Given the description of an element on the screen output the (x, y) to click on. 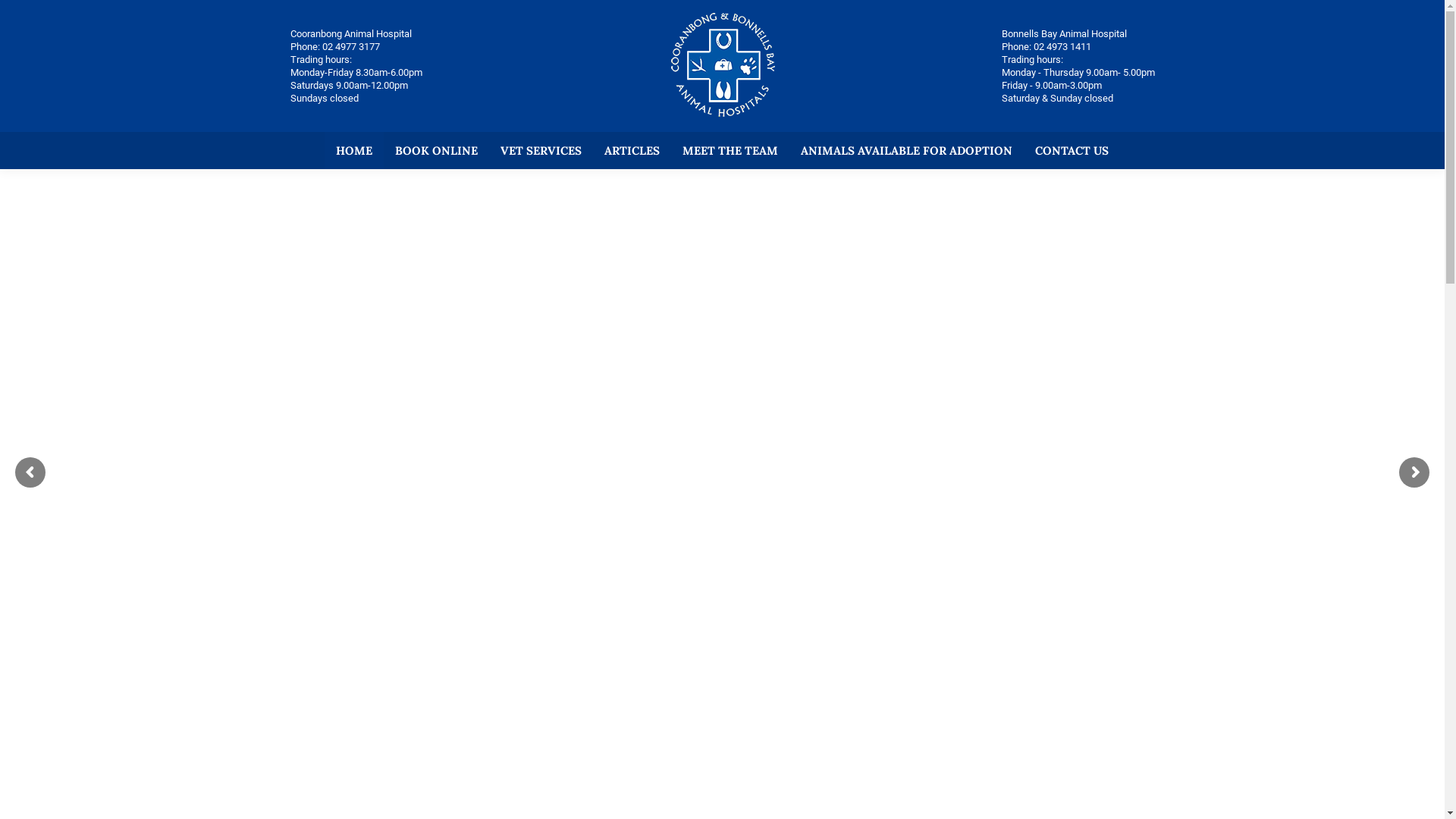
CONTACT US Element type: text (1071, 150)
MEET THE TEAM Element type: text (730, 150)
VET SERVICES Element type: text (541, 150)
BOOK ONLINE Element type: text (436, 150)
ARTICLES Element type: text (632, 150)
ANIMALS AVAILABLE FOR ADOPTION Element type: text (906, 150)
HOME Element type: text (353, 150)
